Given the description of an element on the screen output the (x, y) to click on. 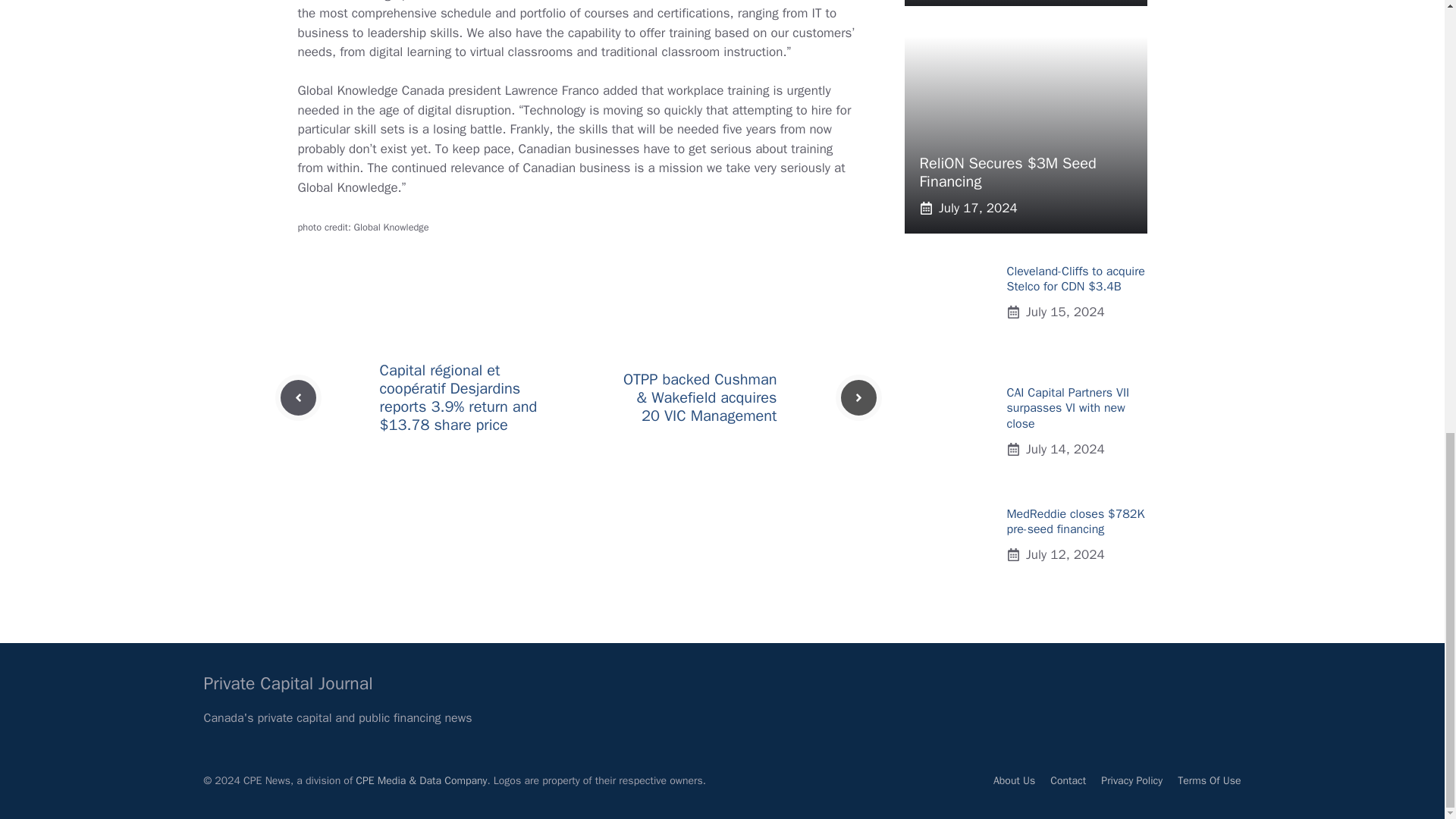
Scroll back to top (1406, 617)
